Given the description of an element on the screen output the (x, y) to click on. 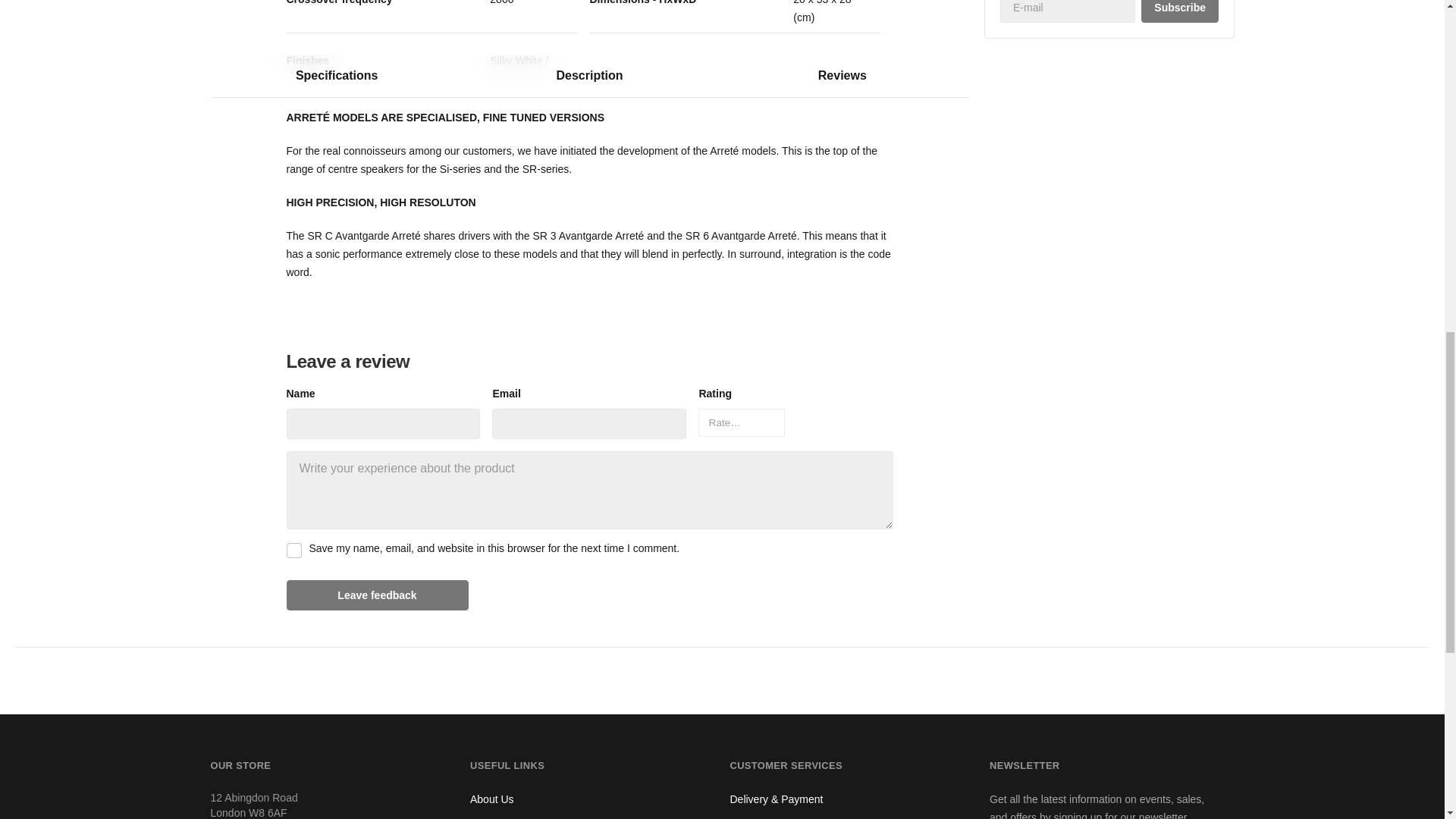
Leave feedback (377, 594)
yes (293, 549)
